Given the description of an element on the screen output the (x, y) to click on. 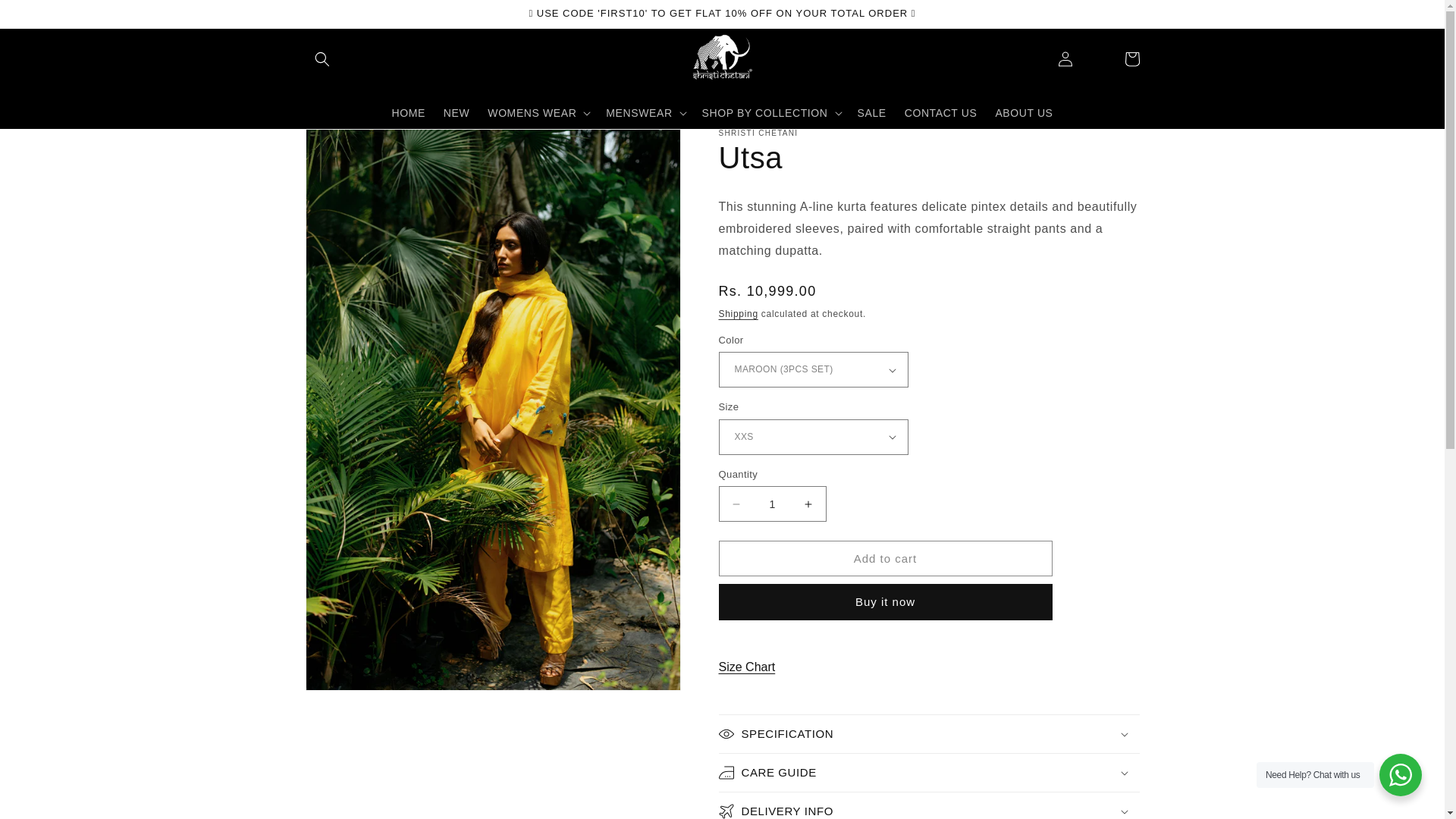
NEW (456, 112)
Skip to content (45, 17)
HOME (407, 112)
1 (773, 503)
